Given the description of an element on the screen output the (x, y) to click on. 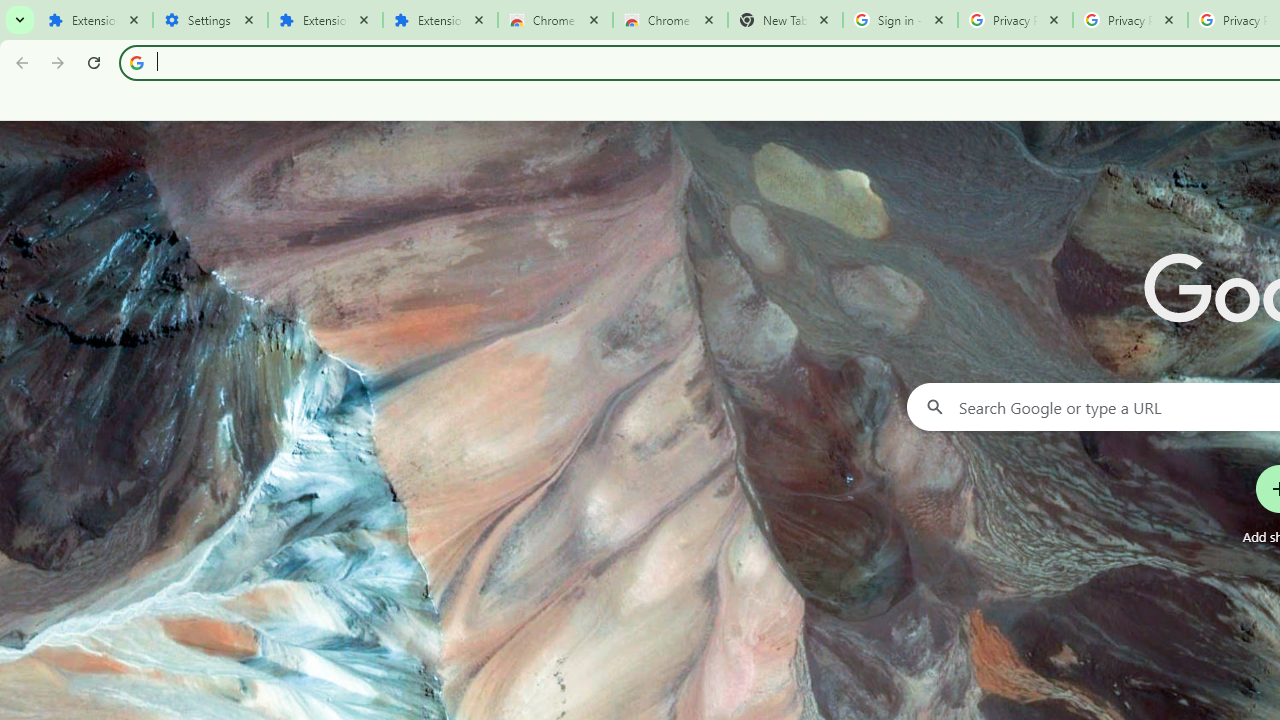
Extensions (439, 20)
Chrome Web Store - Themes (670, 20)
Sign in - Google Accounts (900, 20)
New Tab (785, 20)
Extensions (324, 20)
Chrome Web Store (555, 20)
Settings (209, 20)
